Given the description of an element on the screen output the (x, y) to click on. 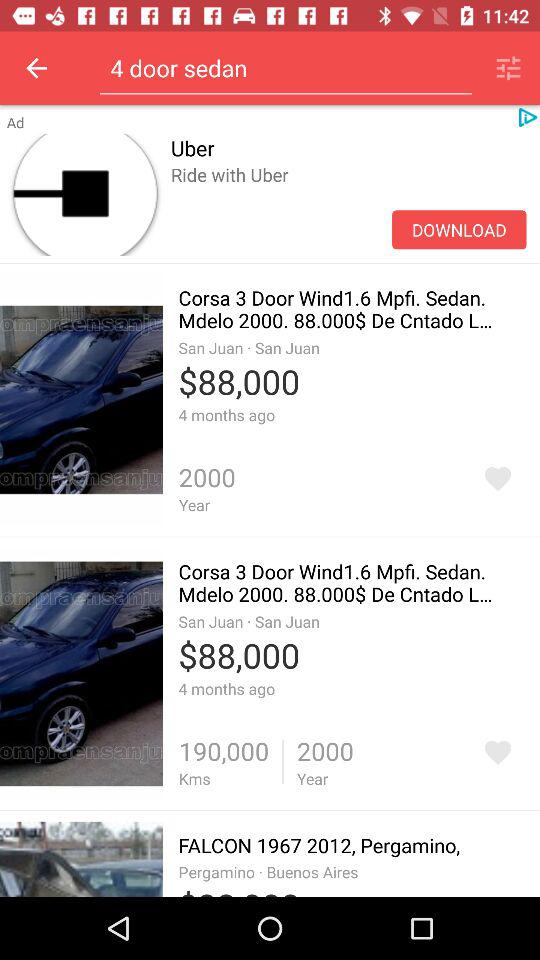
toggle favorite (497, 752)
